Given the description of an element on the screen output the (x, y) to click on. 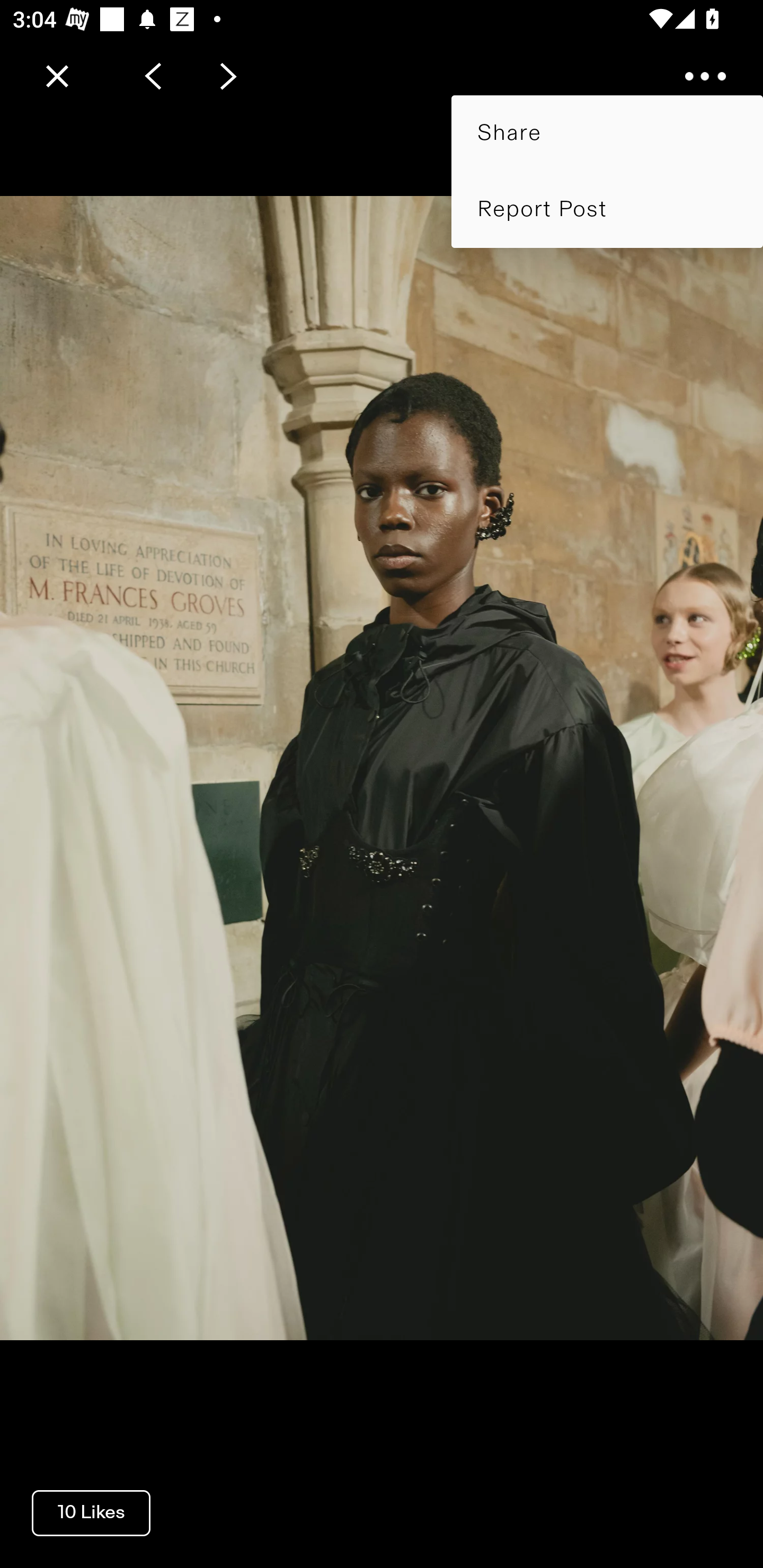
Share (607, 132)
Report Post (607, 208)
